Given the description of an element on the screen output the (x, y) to click on. 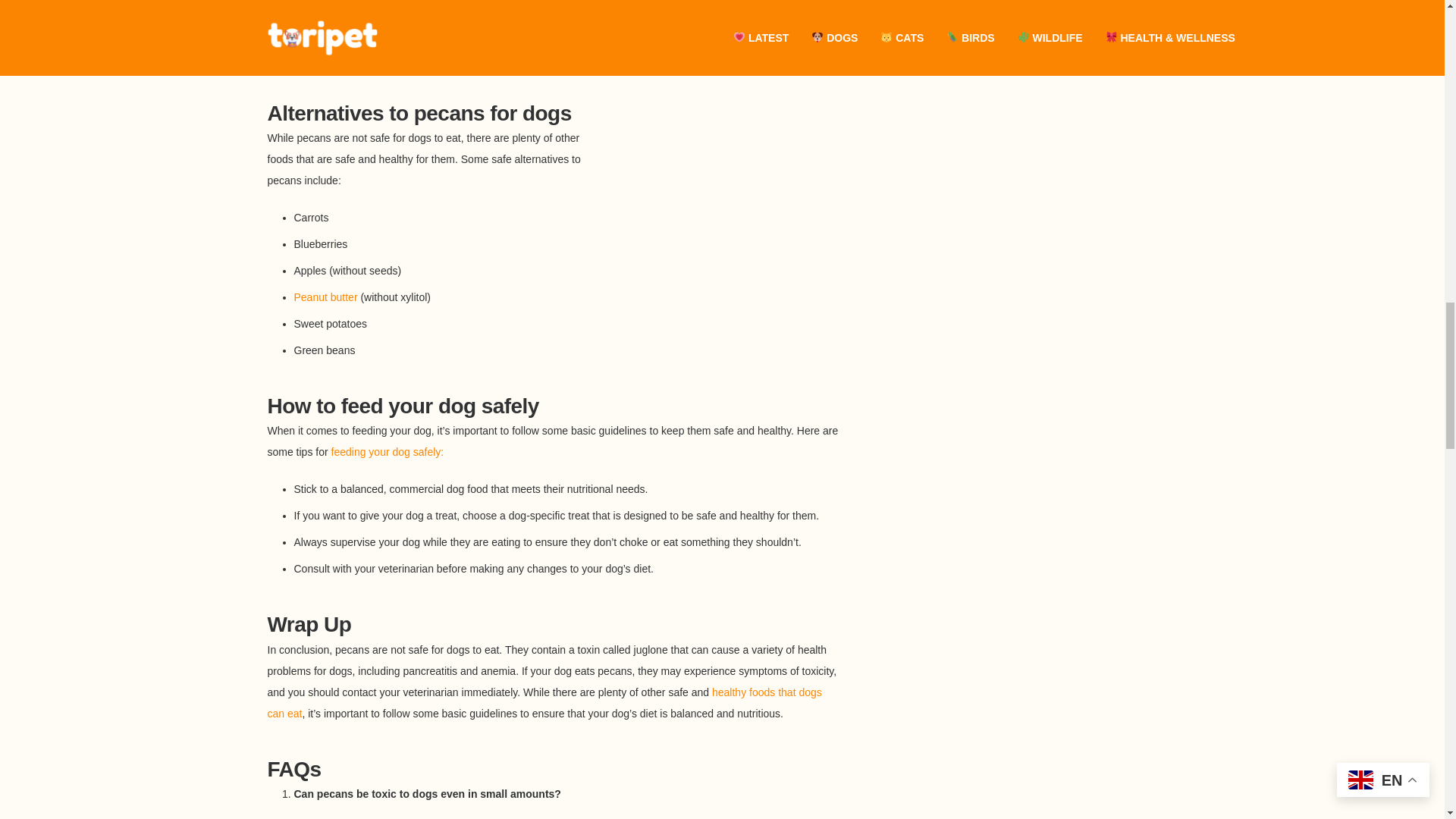
Peanut butter (326, 297)
healthy foods that dogs can eat (543, 702)
feeding your dog safely: (387, 451)
